Given the description of an element on the screen output the (x, y) to click on. 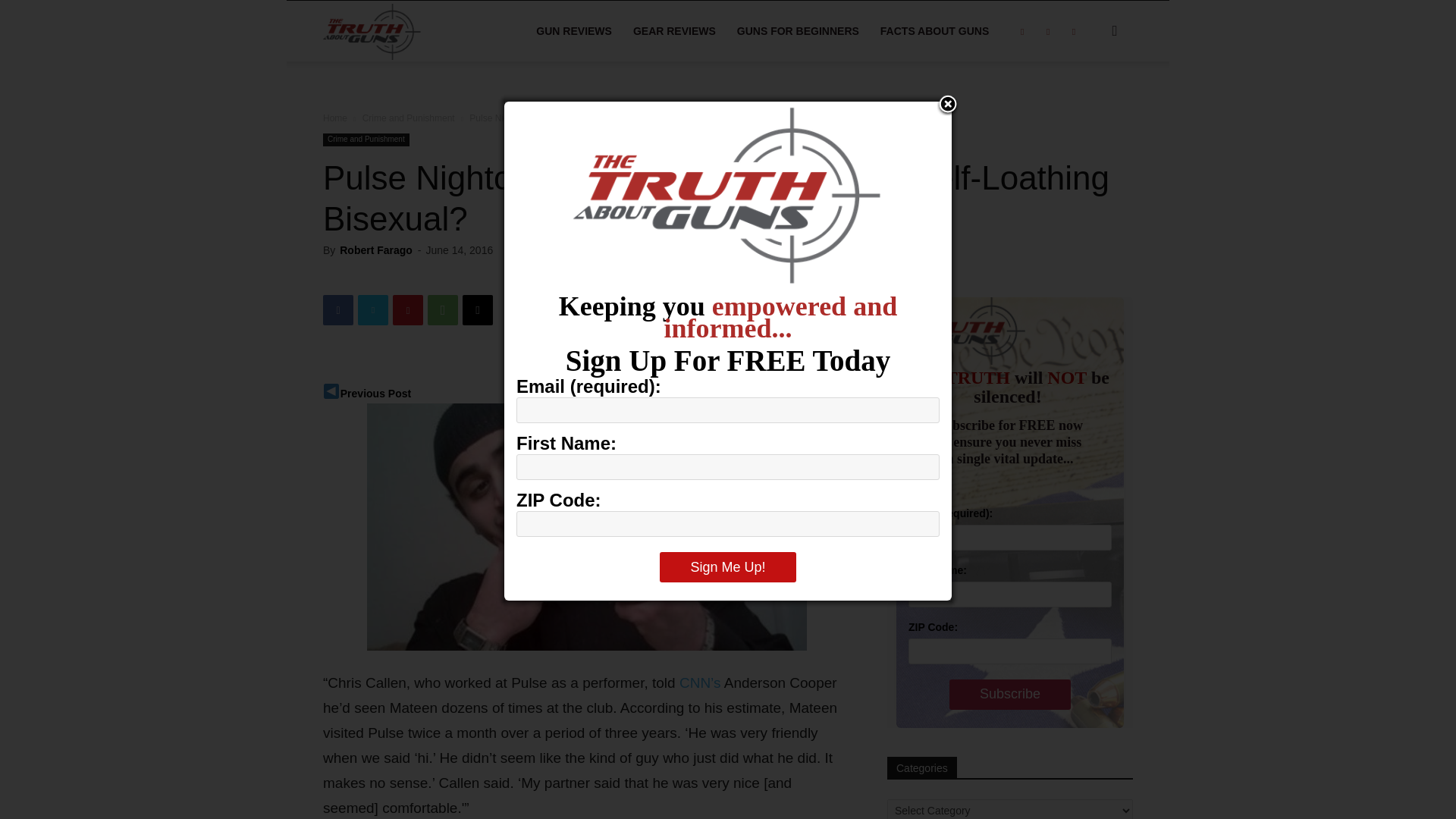
GUN REVIEWS (574, 30)
GUNS FOR BEGINNERS (797, 30)
GEAR REVIEWS (674, 30)
Search (1091, 103)
Sign Me Up! (726, 567)
View all posts in Crime and Punishment (408, 118)
FACTS ABOUT GUNS (933, 30)
Crime and Punishment (408, 118)
Crime and Punishment (366, 139)
63 (518, 250)
Home (335, 118)
Subscribe (1009, 694)
The Truth About Guns (408, 30)
